Given the description of an element on the screen output the (x, y) to click on. 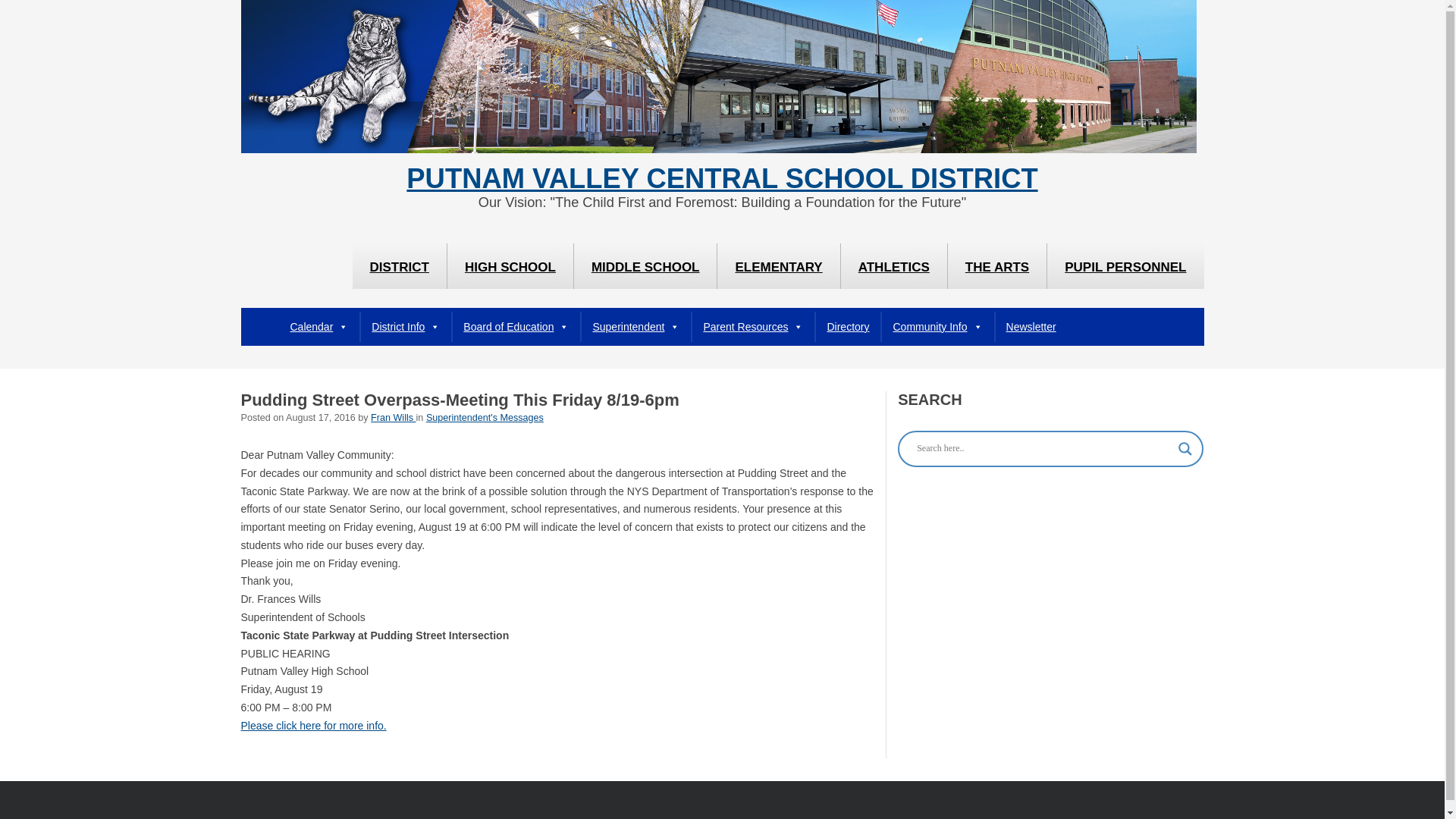
ATHLETICS (894, 266)
PUPIL PERSONNEL (1125, 266)
THE ARTS (996, 266)
Calendar (319, 327)
Board of Education (515, 327)
District Info (405, 327)
HIGH SCHOOL (509, 266)
ELEMENTARY (778, 266)
PUTNAM VALLEY CENTRAL SCHOOL DISTRICT (721, 178)
DISTRICT (399, 266)
MIDDLE SCHOOL (645, 266)
